Given the description of an element on the screen output the (x, y) to click on. 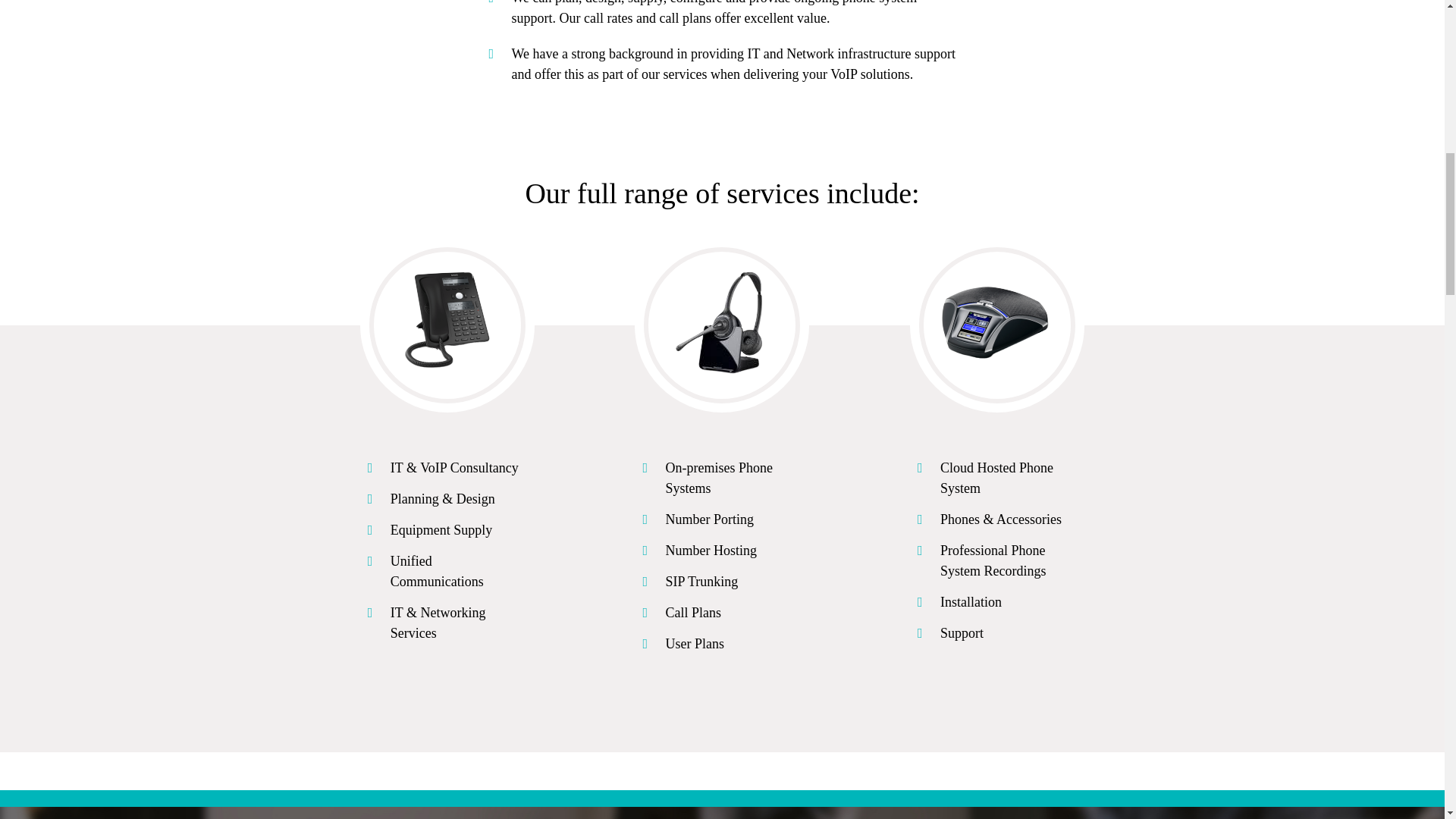
Equipment Supply (441, 529)
Number Porting (709, 519)
Unified Communications (436, 570)
On-premises Phone Systems (718, 478)
